Given the description of an element on the screen output the (x, y) to click on. 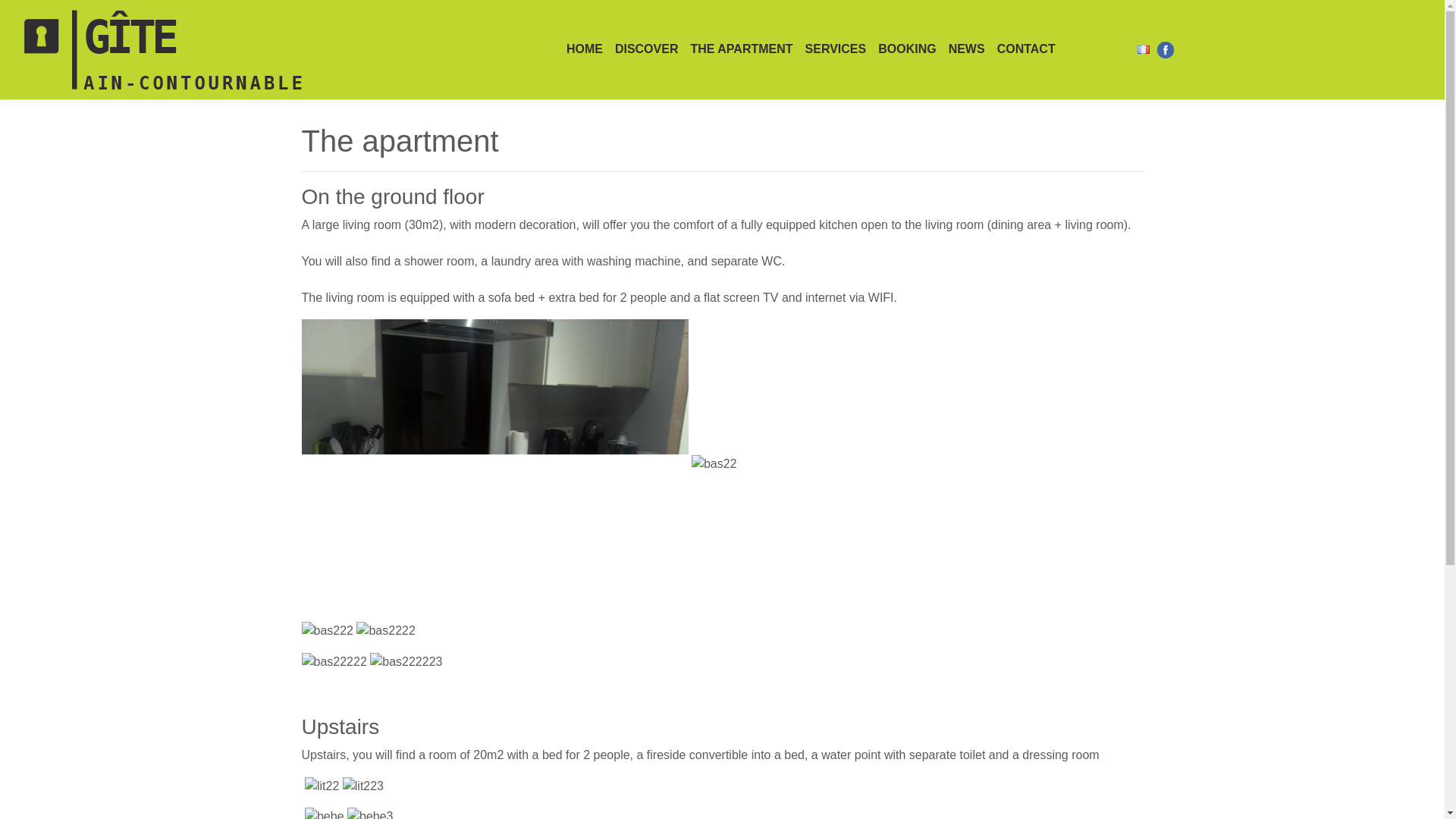
NEWS (966, 49)
DISCOVER (646, 49)
THE APARTMENT (740, 49)
Contact us (1026, 49)
See page Discover (646, 49)
Our news (966, 49)
BOOKING (907, 49)
See page Services (835, 49)
Check availabilities (907, 49)
SERVICES (835, 49)
